Given the description of an element on the screen output the (x, y) to click on. 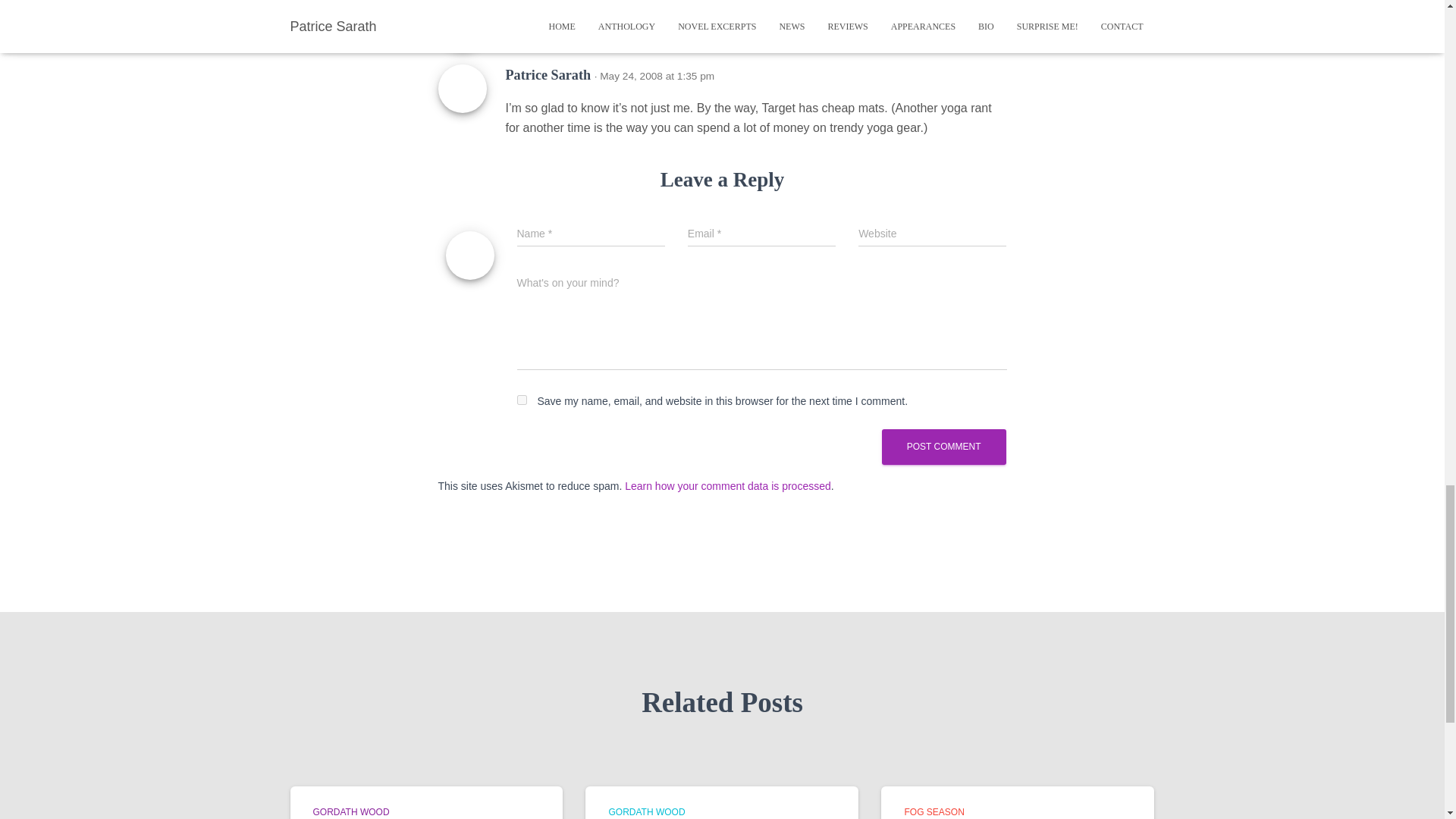
yes (521, 399)
Patrice Sarath (548, 74)
GORDATH WOOD (350, 811)
Post Comment (944, 447)
daver (521, 10)
GORDATH WOOD (646, 811)
Post Comment (944, 447)
View all posts in Gordath Wood (646, 811)
Learn how your comment data is processed (727, 485)
View all posts in Gordath Wood (350, 811)
FOG SEASON (933, 811)
